Given the description of an element on the screen output the (x, y) to click on. 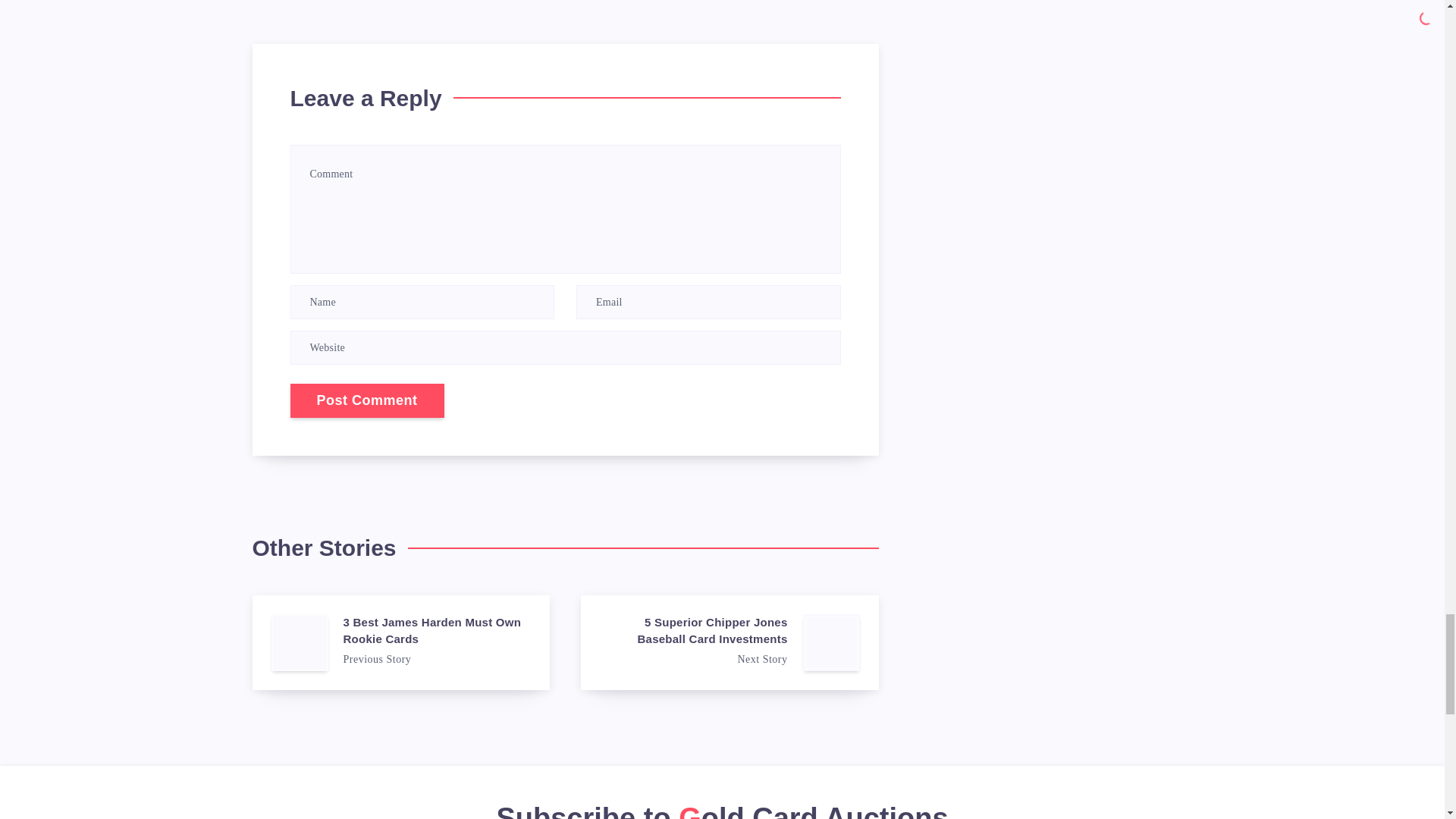
Post Comment (366, 400)
